Given the description of an element on the screen output the (x, y) to click on. 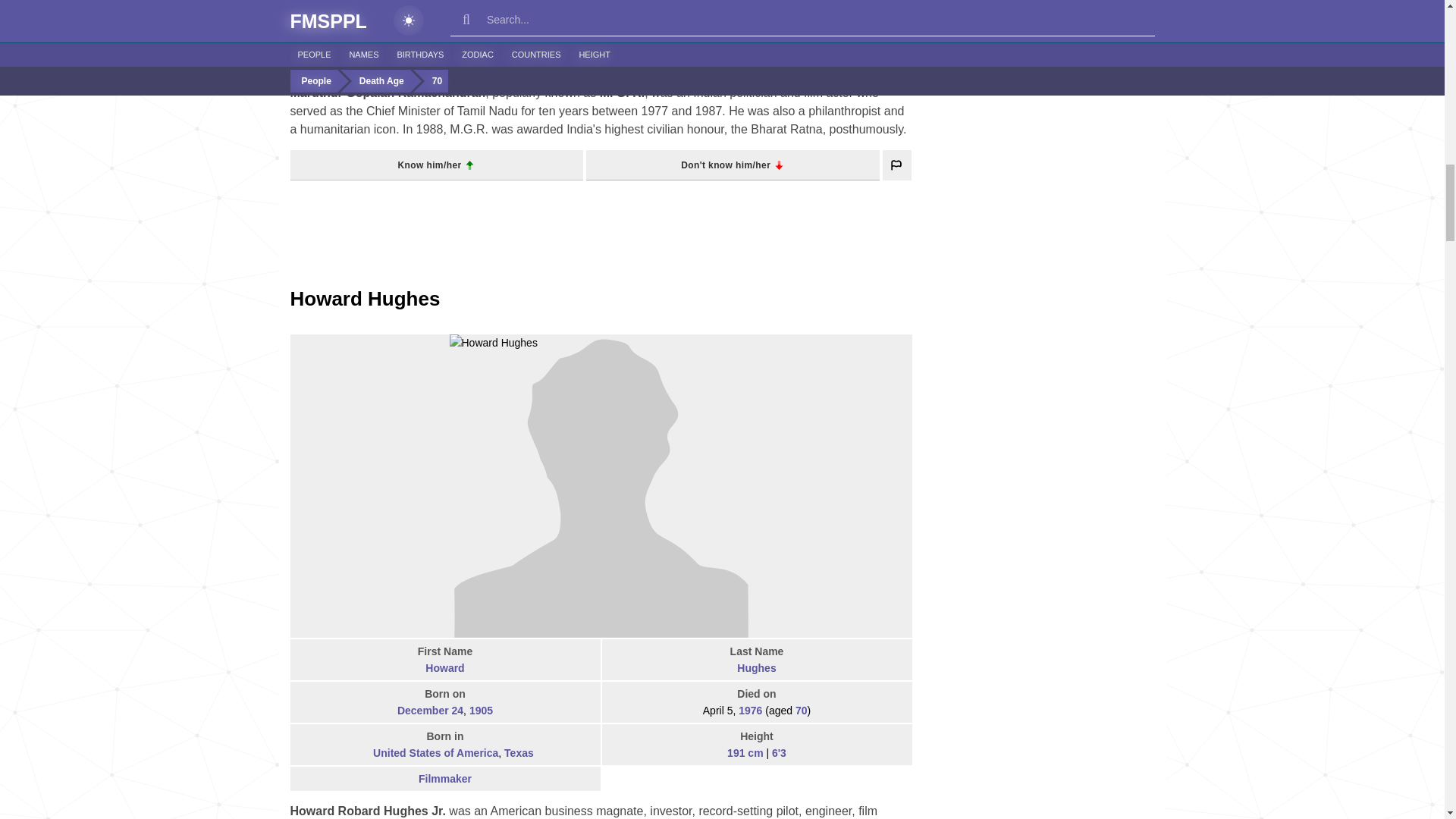
Howard Hughes (364, 298)
January 17 (430, 18)
70 (818, 18)
Central Province (480, 60)
Actor (756, 52)
1987 (766, 18)
Sri Lanka (408, 60)
Sri Lanka (374, 61)
United States of America (362, 754)
1917 (475, 18)
